Given the description of an element on the screen output the (x, y) to click on. 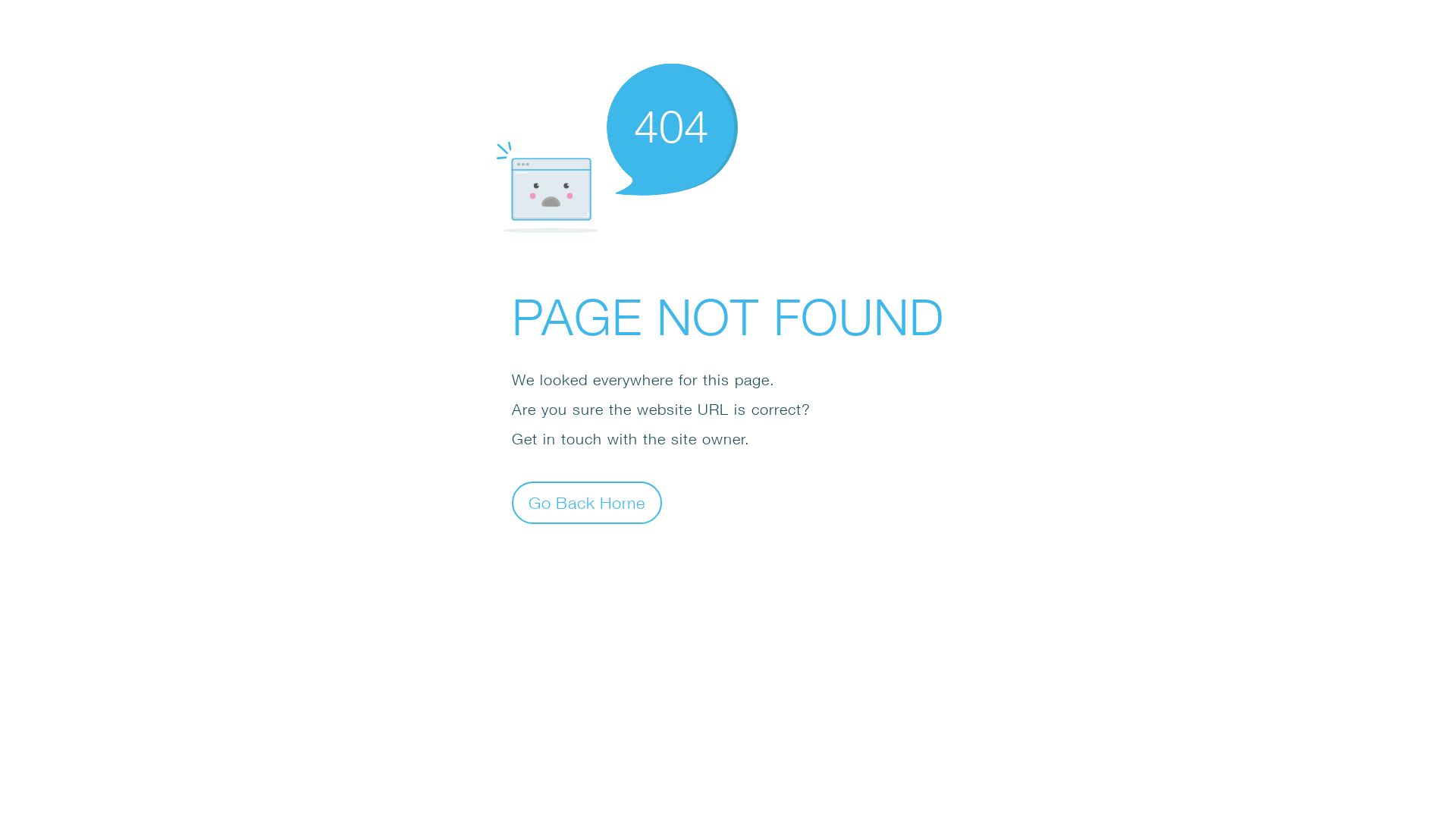
Go Back Home Element type: text (586, 502)
